Given the description of an element on the screen output the (x, y) to click on. 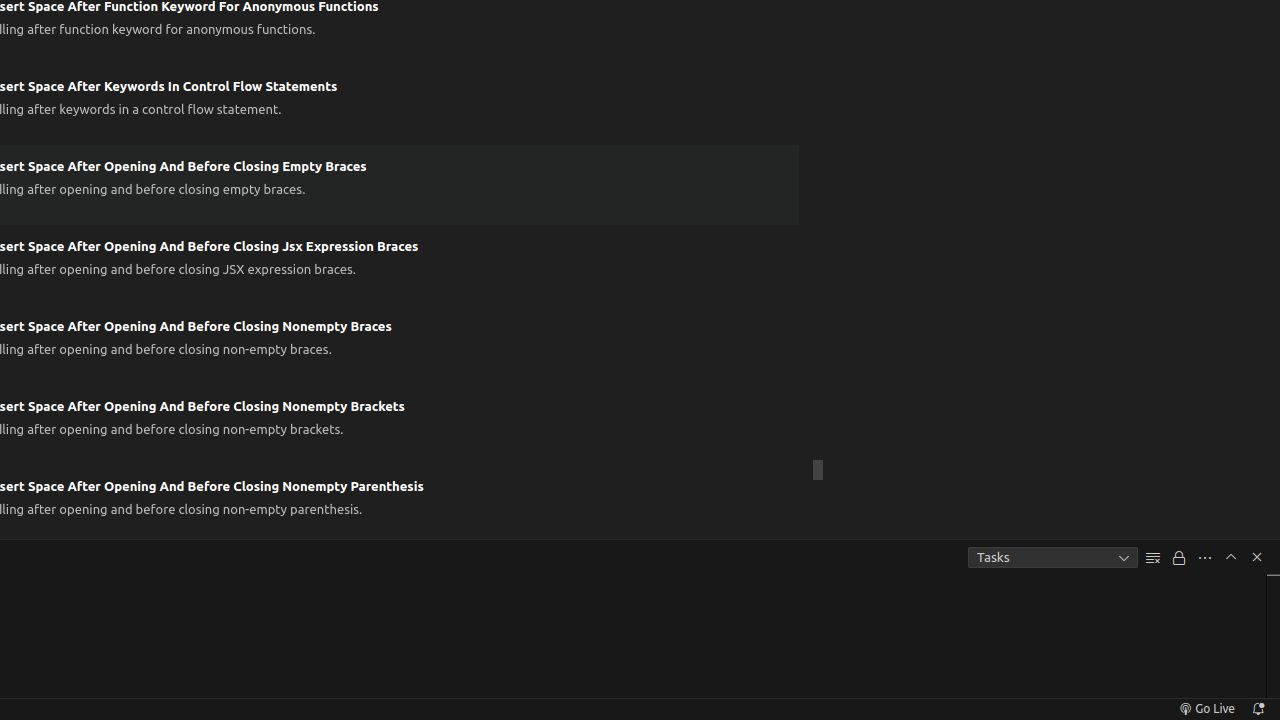
Tasks Element type: menu-item (1053, 557)
Hide Panel Element type: push-button (1257, 557)
Turn Auto Scrolling Off Element type: check-box (1179, 557)
Views and More Actions... Element type: push-button (1205, 557)
Maximize Panel Size Element type: check-box (1231, 557)
